Given the description of an element on the screen output the (x, y) to click on. 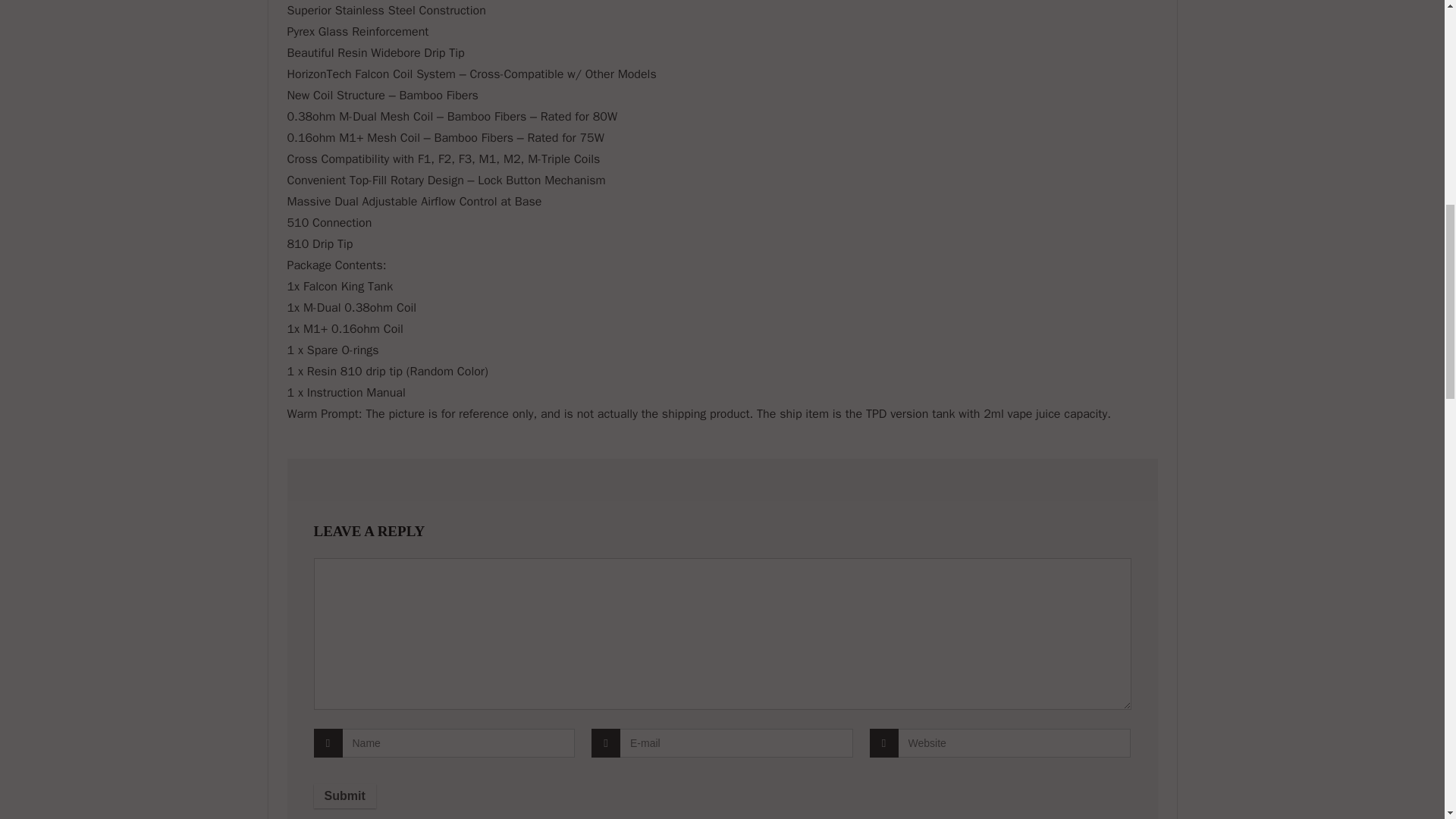
Submit (344, 795)
Submit (344, 795)
